Given the description of an element on the screen output the (x, y) to click on. 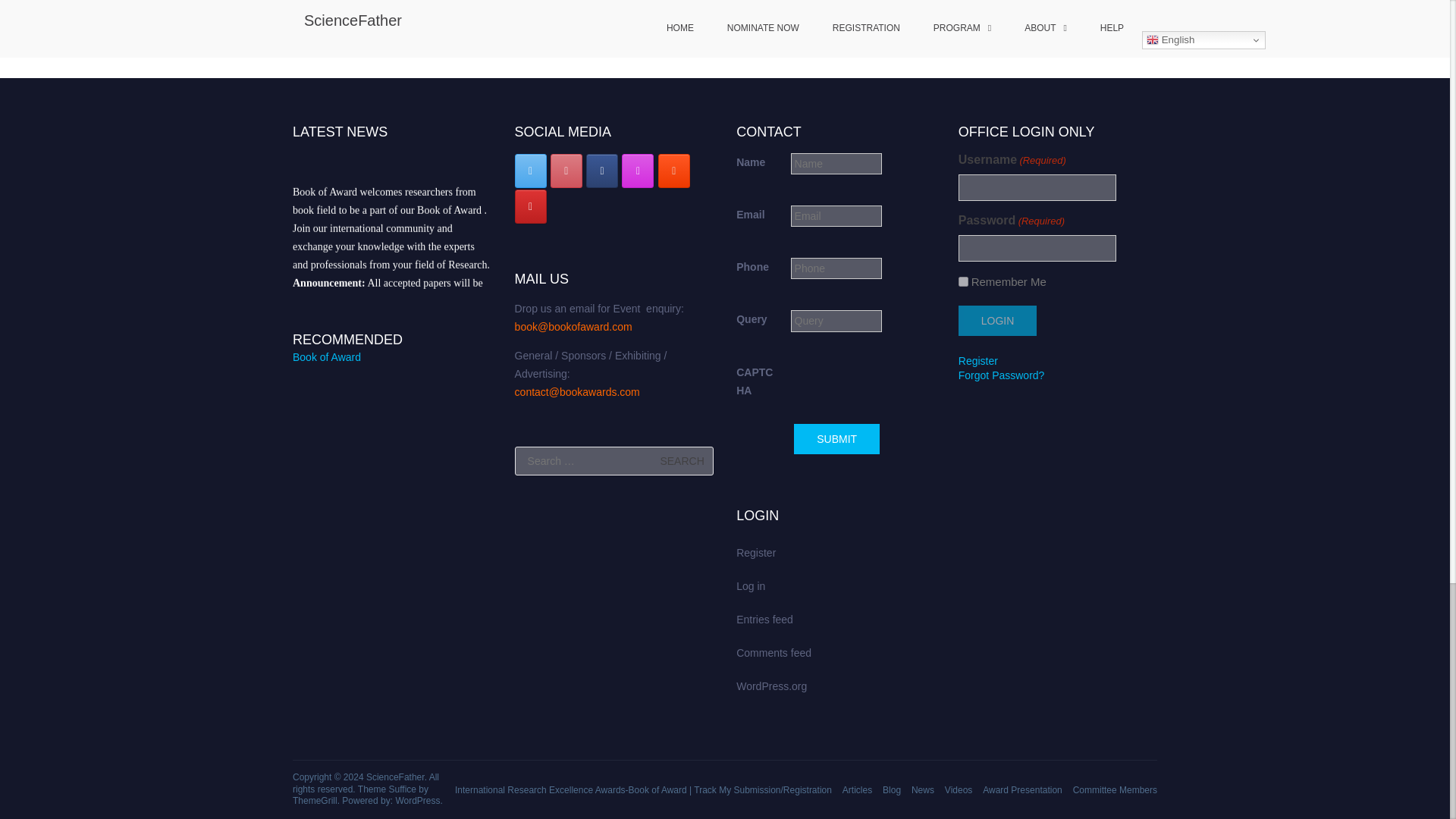
1 (963, 672)
Forgot Password? (1001, 766)
Search (681, 767)
Register (977, 751)
Search (681, 767)
Login (997, 711)
Submit (779, 816)
